Given the description of an element on the screen output the (x, y) to click on. 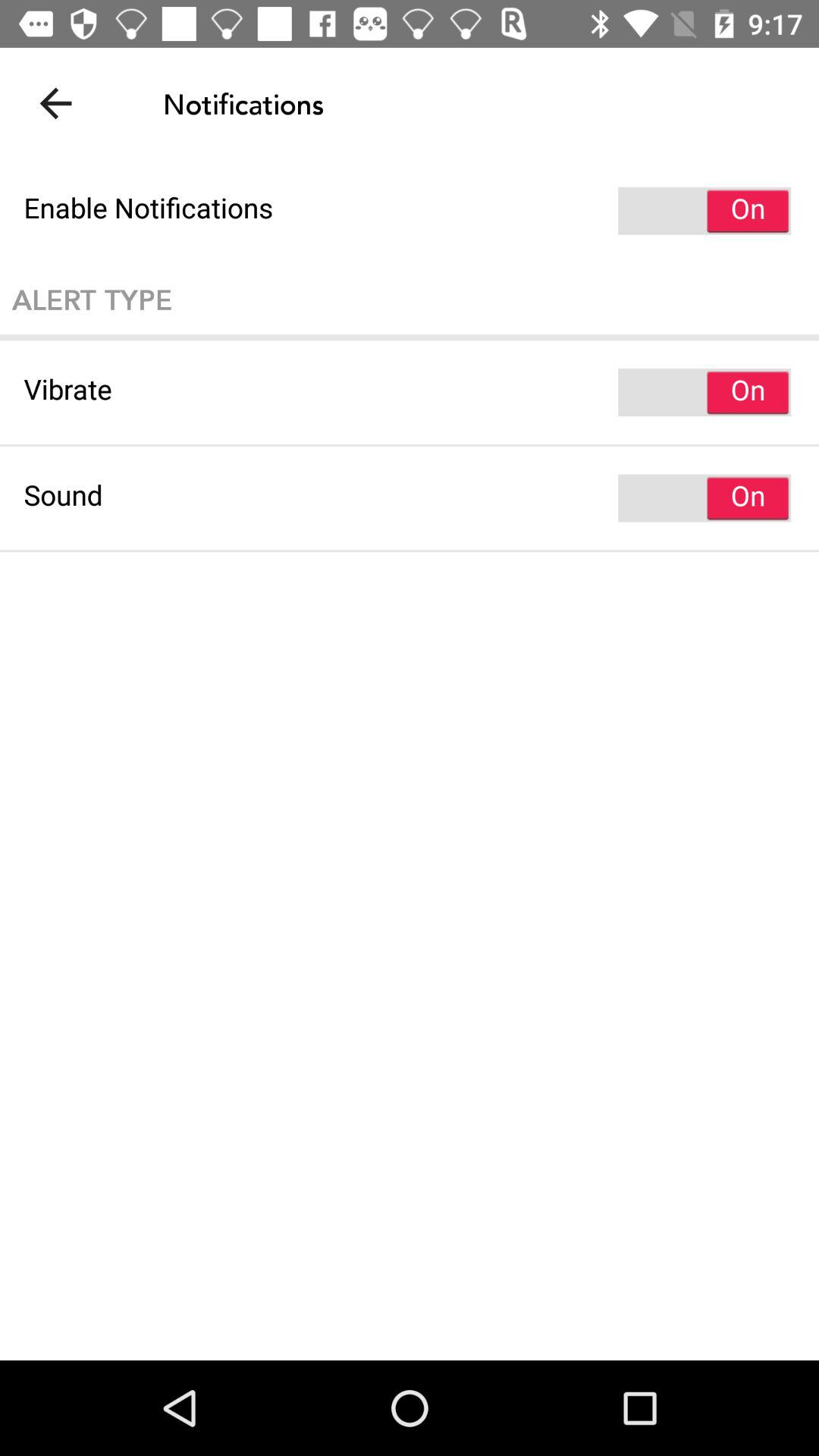
choose the icon to the left of the notifications icon (55, 103)
